Given the description of an element on the screen output the (x, y) to click on. 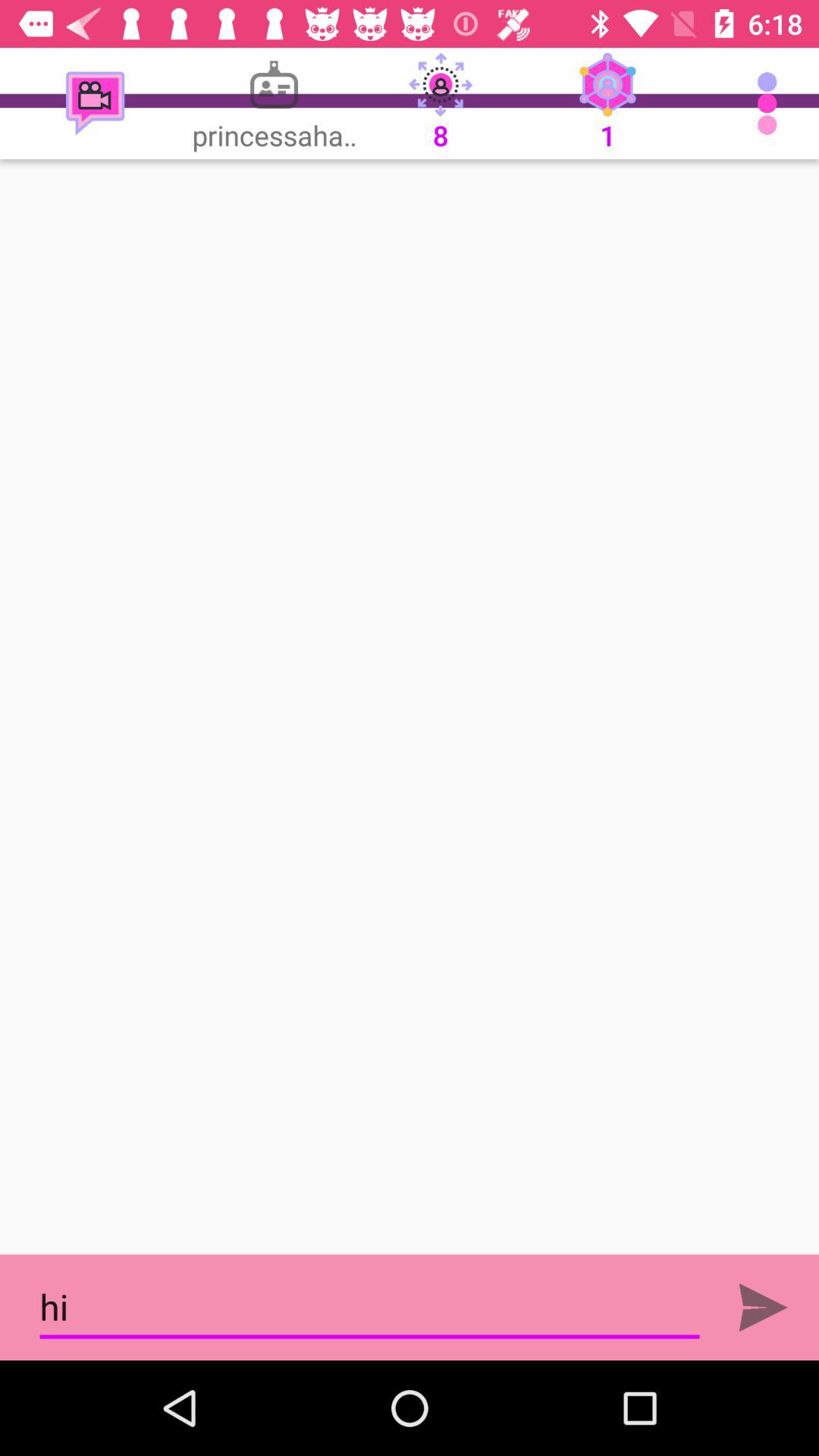
go to next (763, 1307)
